Given the description of an element on the screen output the (x, y) to click on. 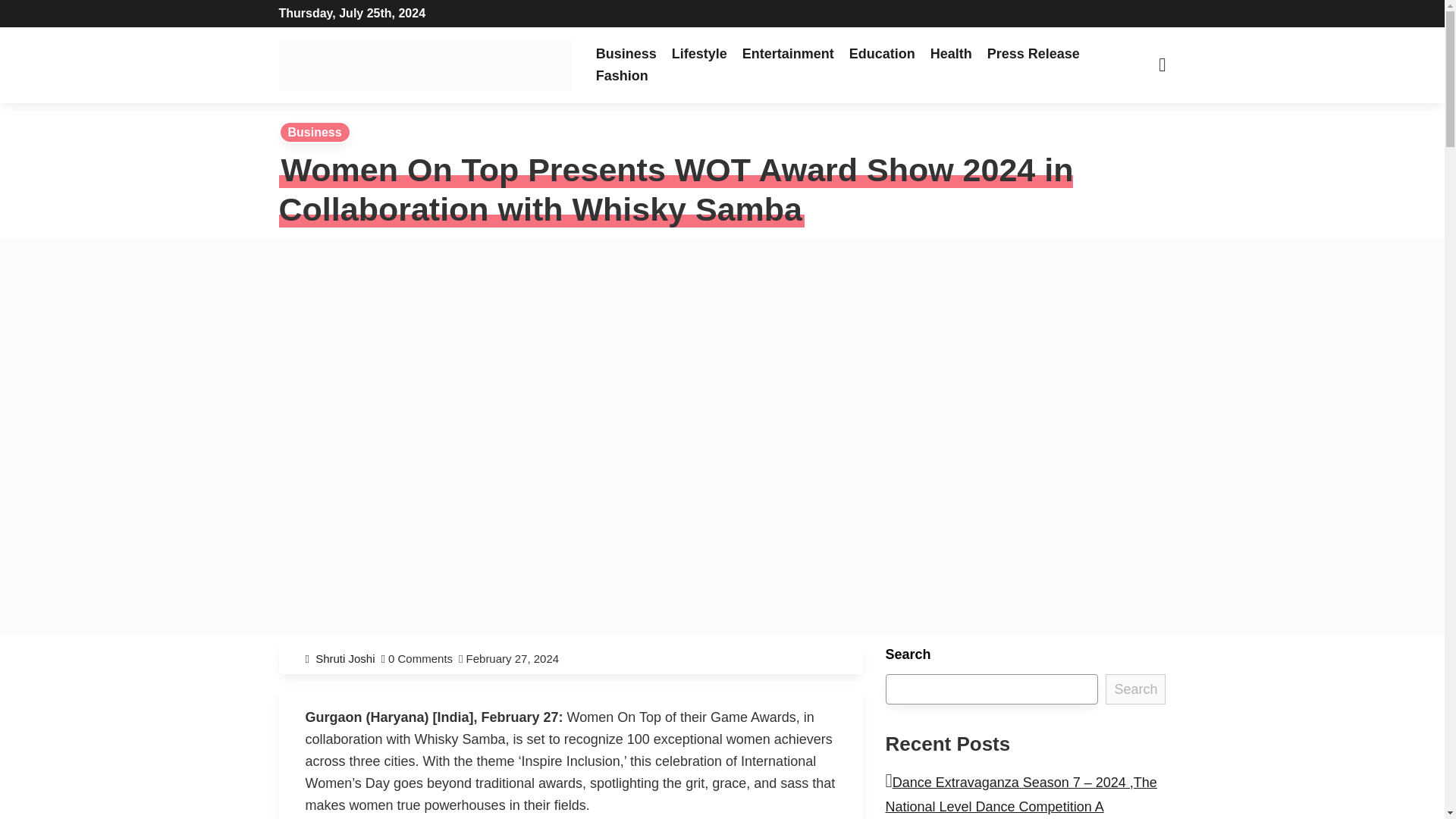
Lifestyle (699, 53)
Press Release (1033, 53)
Entertainment (788, 53)
Business (315, 132)
Business (625, 53)
Search (455, 16)
Shruti Joshi (347, 658)
Search (1135, 689)
Fashion (622, 75)
View all posts in Business (315, 132)
Education (882, 53)
Health (951, 53)
